Given the description of an element on the screen output the (x, y) to click on. 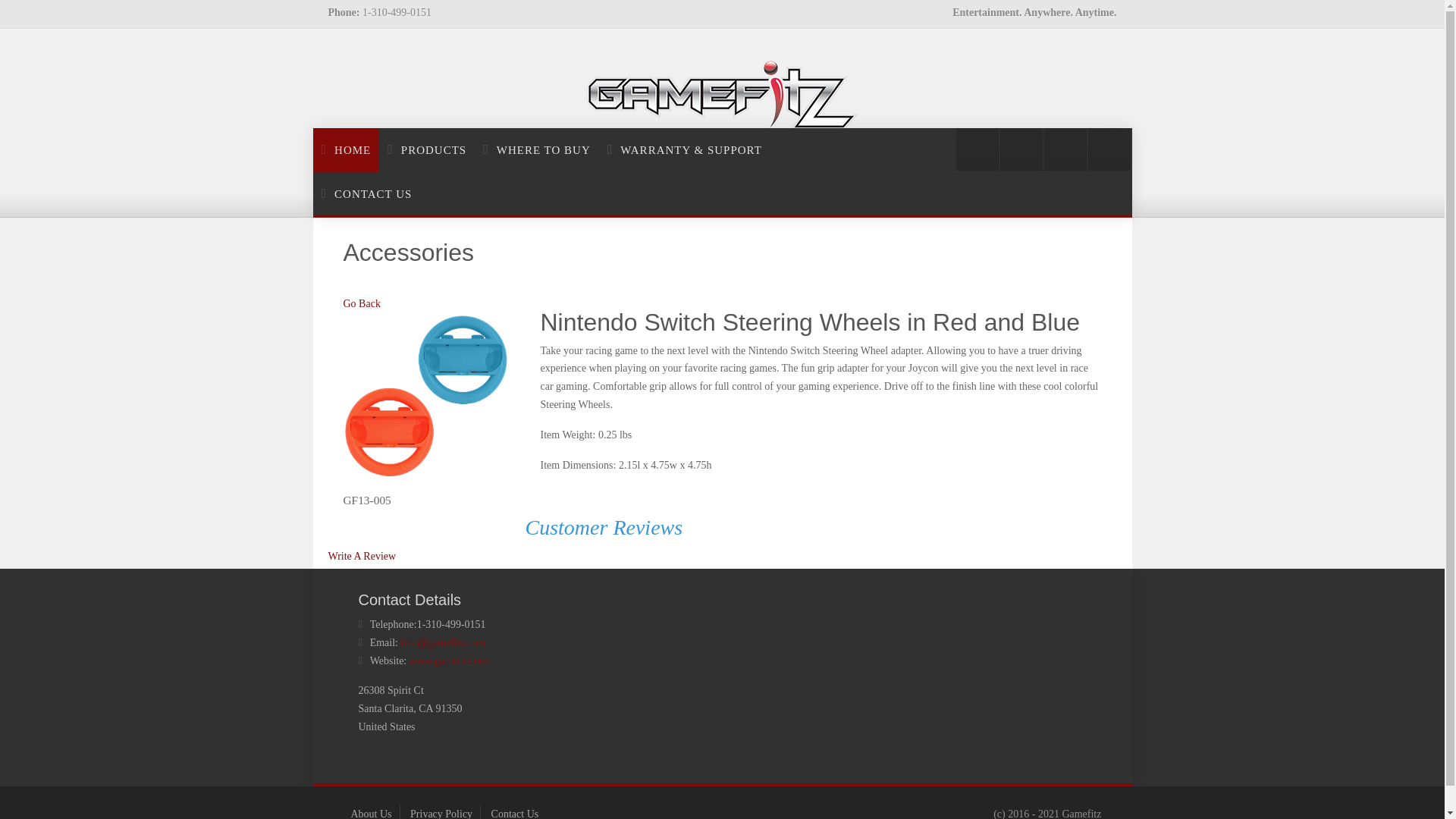
Write A Review (361, 555)
Contact Us (515, 813)
RSS (977, 148)
WHERE TO BUY (536, 149)
About Us (370, 813)
CONTACT US (366, 193)
HOME (345, 149)
Twitter (1021, 148)
www.gamefitz.com (451, 660)
Facebook (1064, 148)
Privacy Policy (440, 813)
Go Back (361, 303)
